Given the description of an element on the screen output the (x, y) to click on. 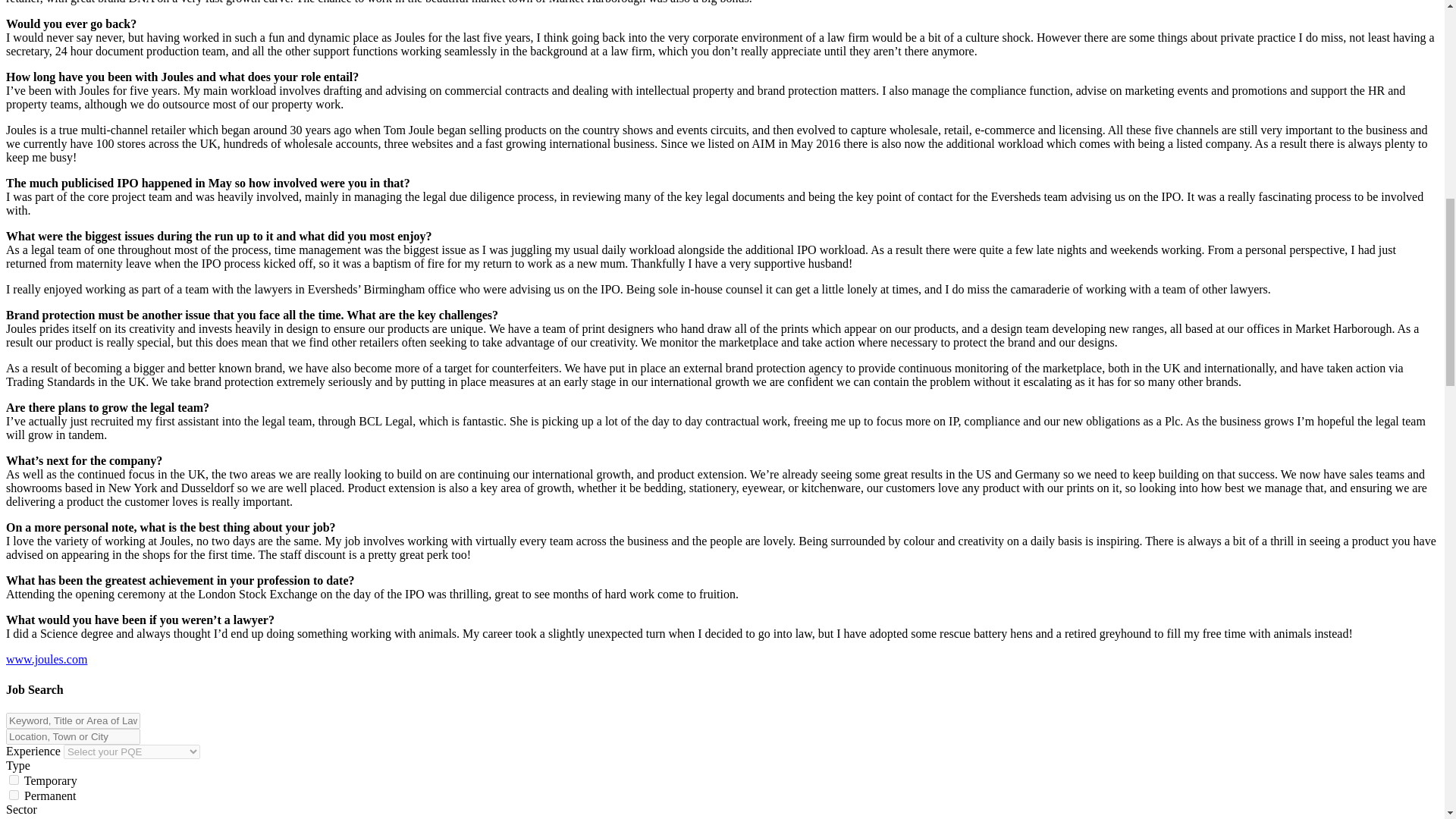
Temporary (13, 779)
Permanent (13, 795)
